Given the description of an element on the screen output the (x, y) to click on. 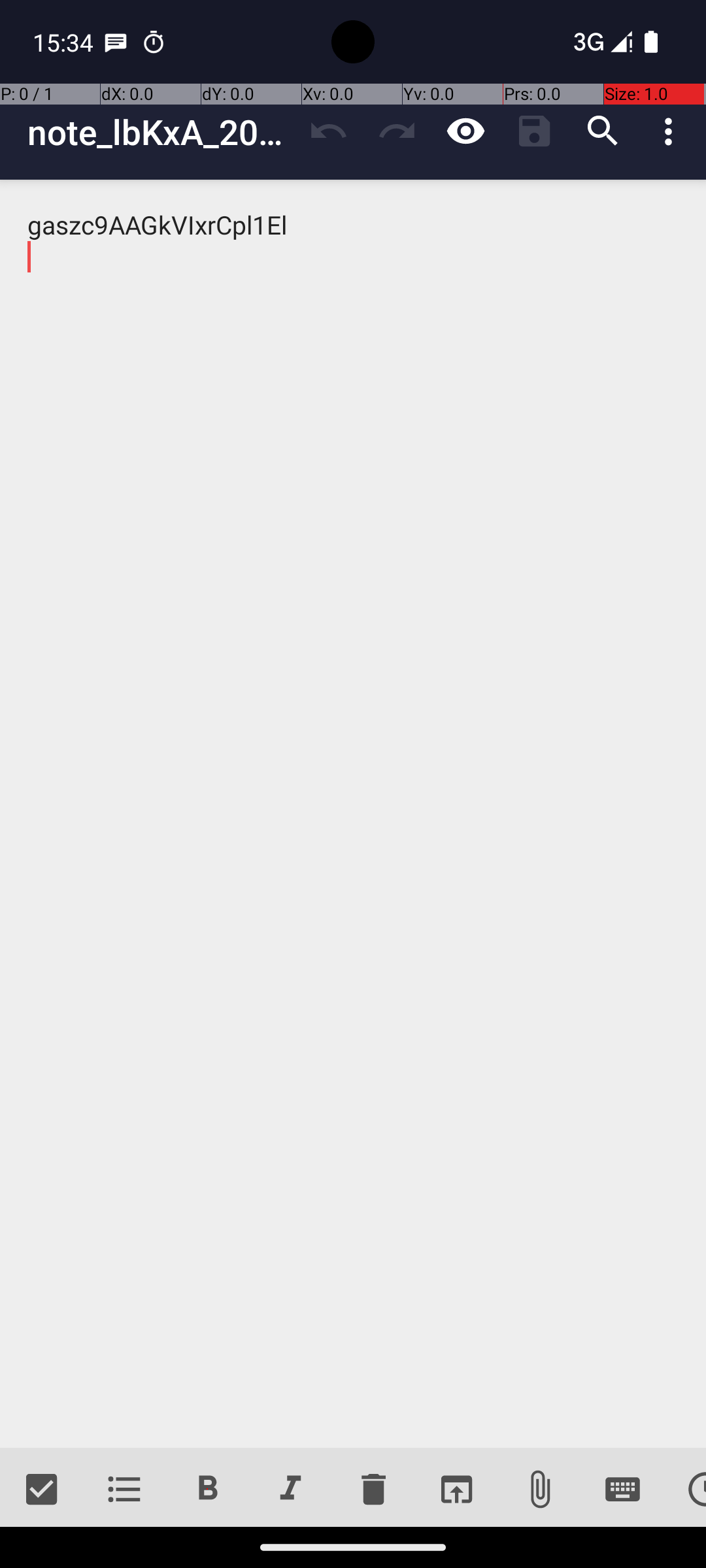
note_lbKxA_2023_01_09 Element type: android.widget.TextView (160, 131)
gaszc9AAGkVIxrCpl1El
 Element type: android.widget.EditText (353, 813)
